Given the description of an element on the screen output the (x, y) to click on. 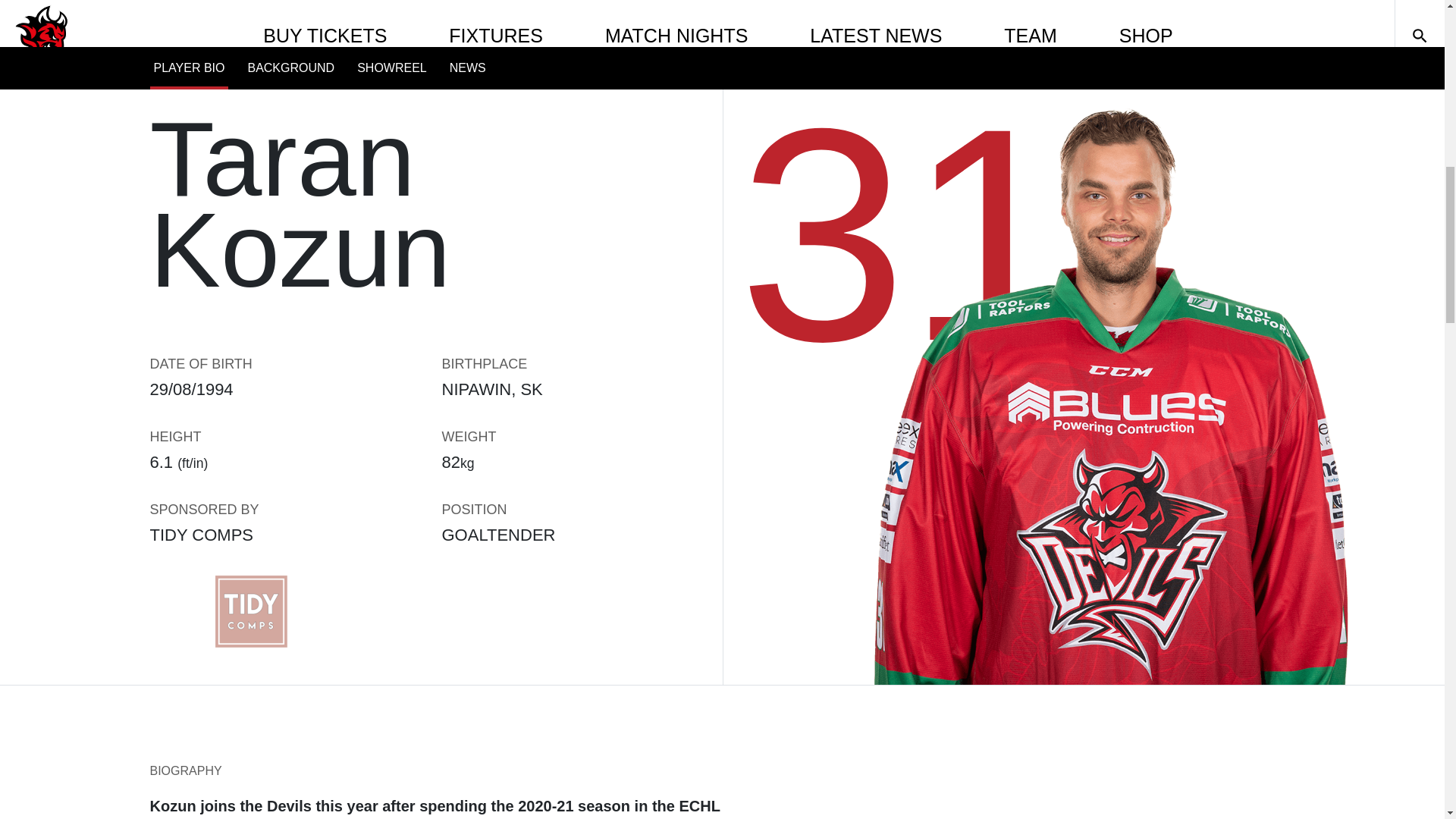
Tidy Comps (250, 611)
